Given the description of an element on the screen output the (x, y) to click on. 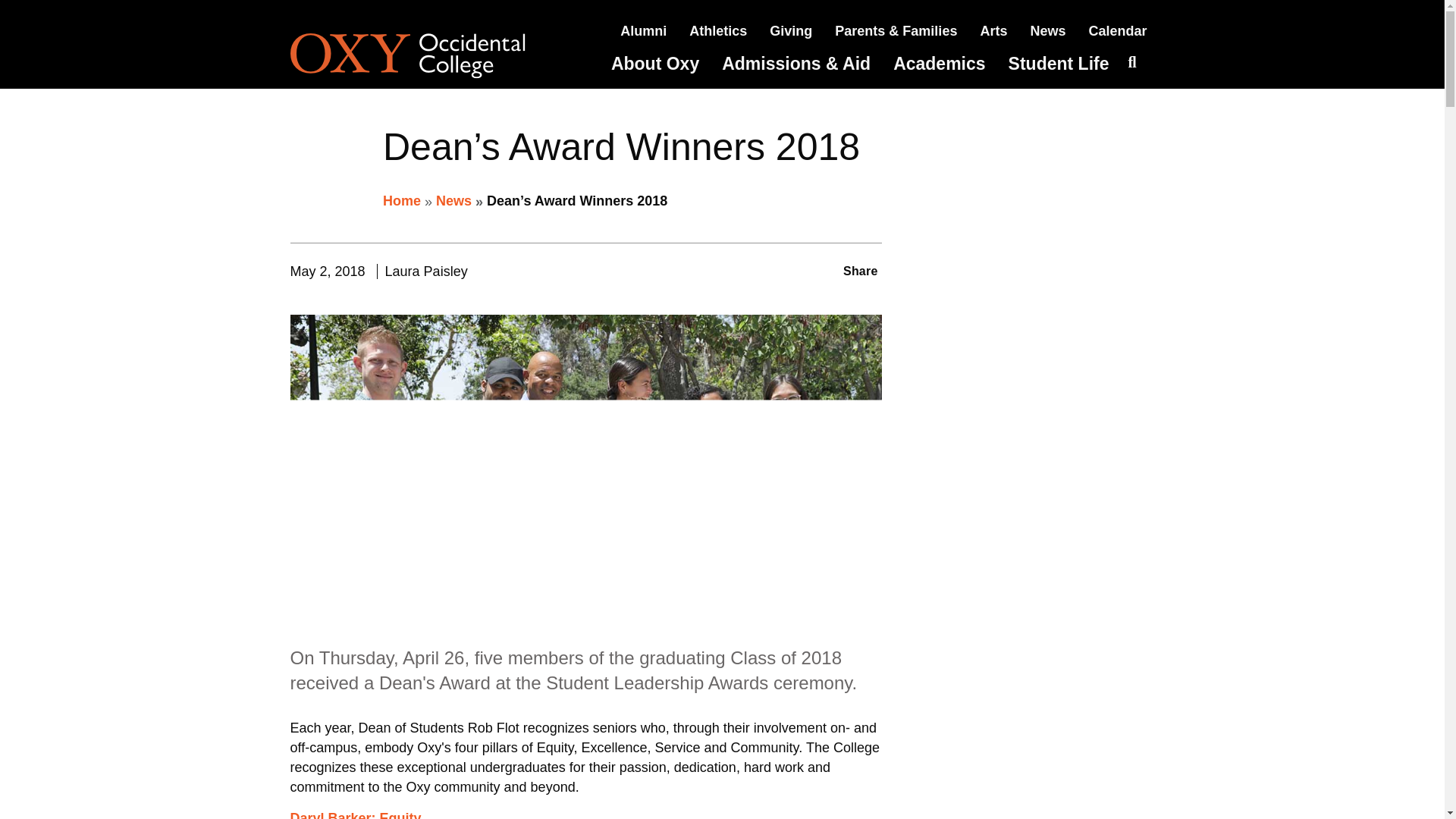
Academics (938, 63)
Student Life (1059, 63)
About Oxy (654, 63)
Athletics (717, 30)
Giving (791, 30)
Arts (993, 30)
Alumni (643, 30)
Home (428, 55)
Calendar (1117, 30)
News (1047, 30)
